Given the description of an element on the screen output the (x, y) to click on. 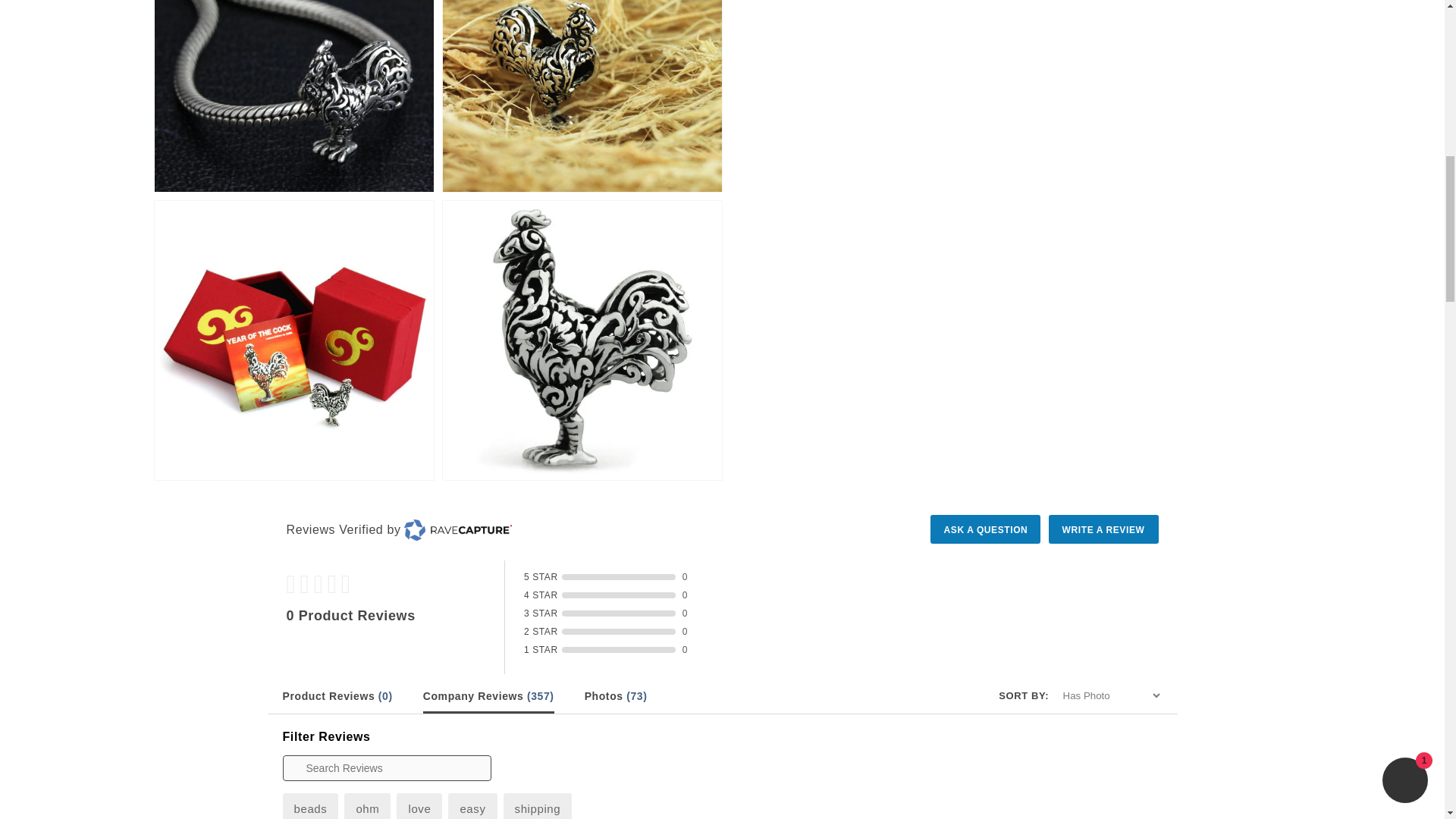
Write review (1102, 529)
RaveCapture Logo (458, 529)
0 stars (395, 584)
Ask question (985, 529)
